Given the description of an element on the screen output the (x, y) to click on. 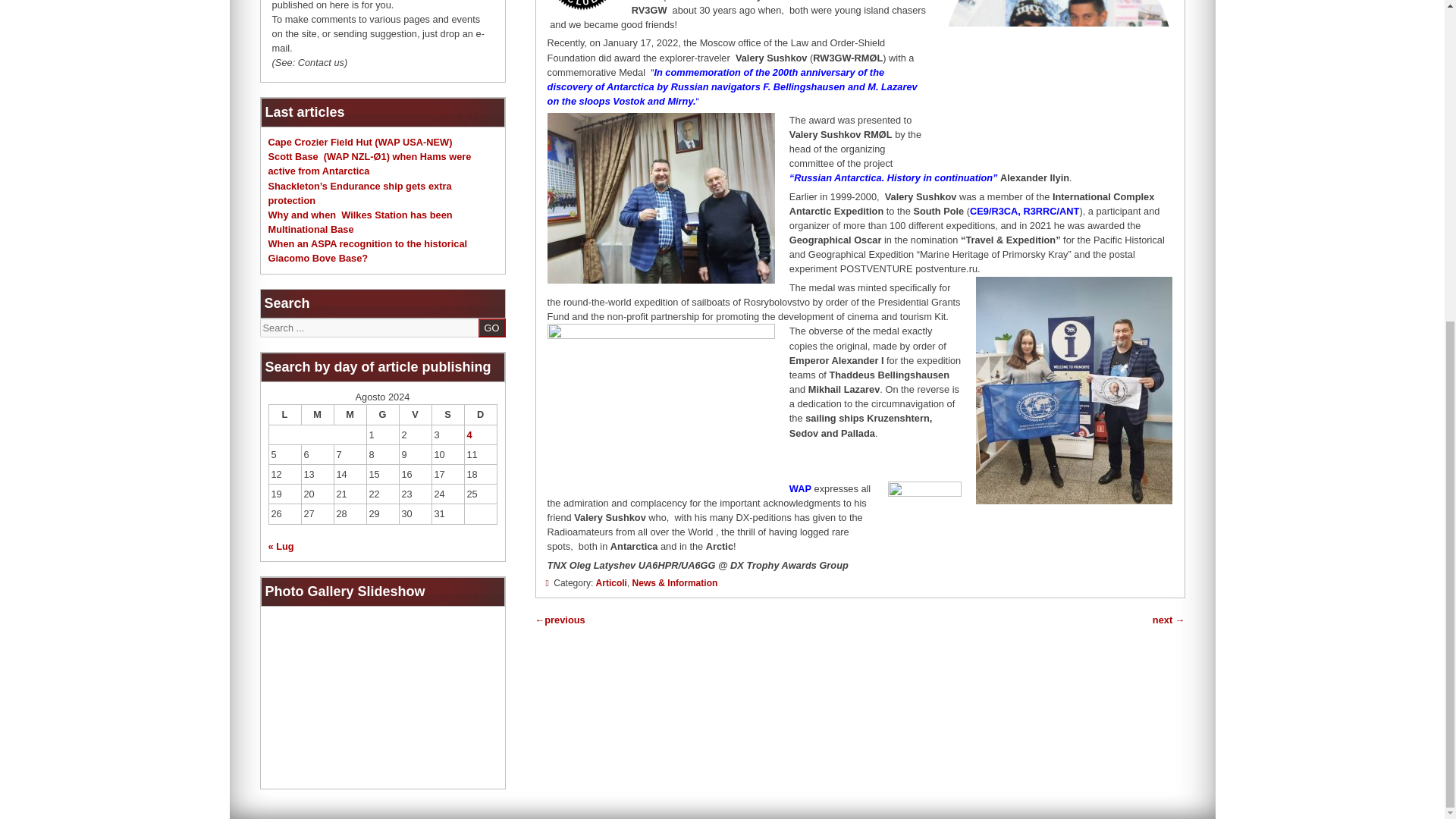
GO (492, 327)
GO (492, 327)
domenica (480, 414)
sabato (447, 414)
